Given the description of an element on the screen output the (x, y) to click on. 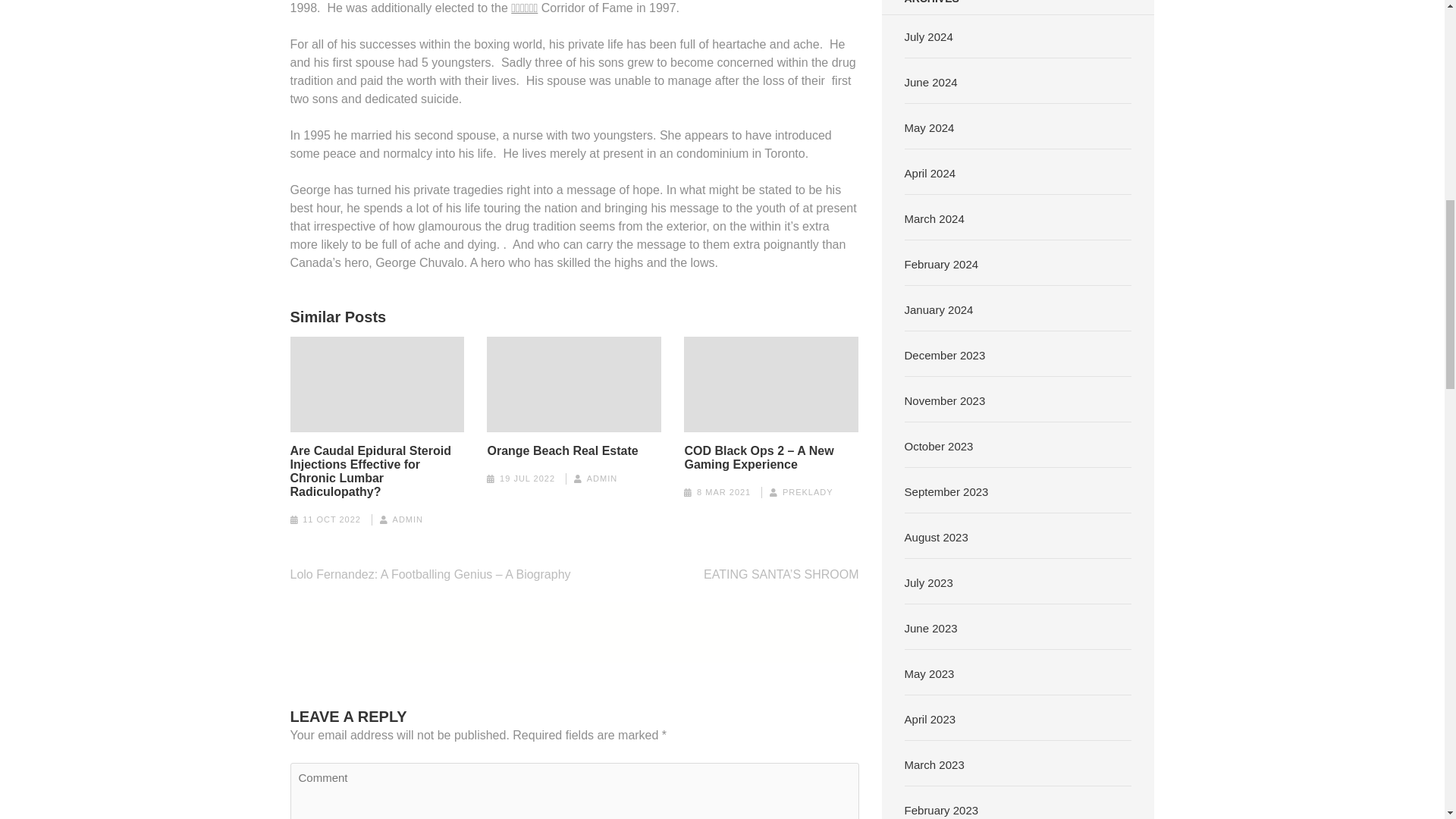
Orange Beach Real Estate (561, 450)
July 2024 (928, 36)
April 2024 (930, 173)
19 JUL 2022 (526, 478)
PREKLADY (807, 491)
March 2024 (933, 218)
May 2024 (929, 127)
ADMIN (408, 519)
11 OCT 2022 (331, 519)
8 MAR 2021 (724, 491)
June 2024 (931, 82)
ADMIN (601, 478)
